Given the description of an element on the screen output the (x, y) to click on. 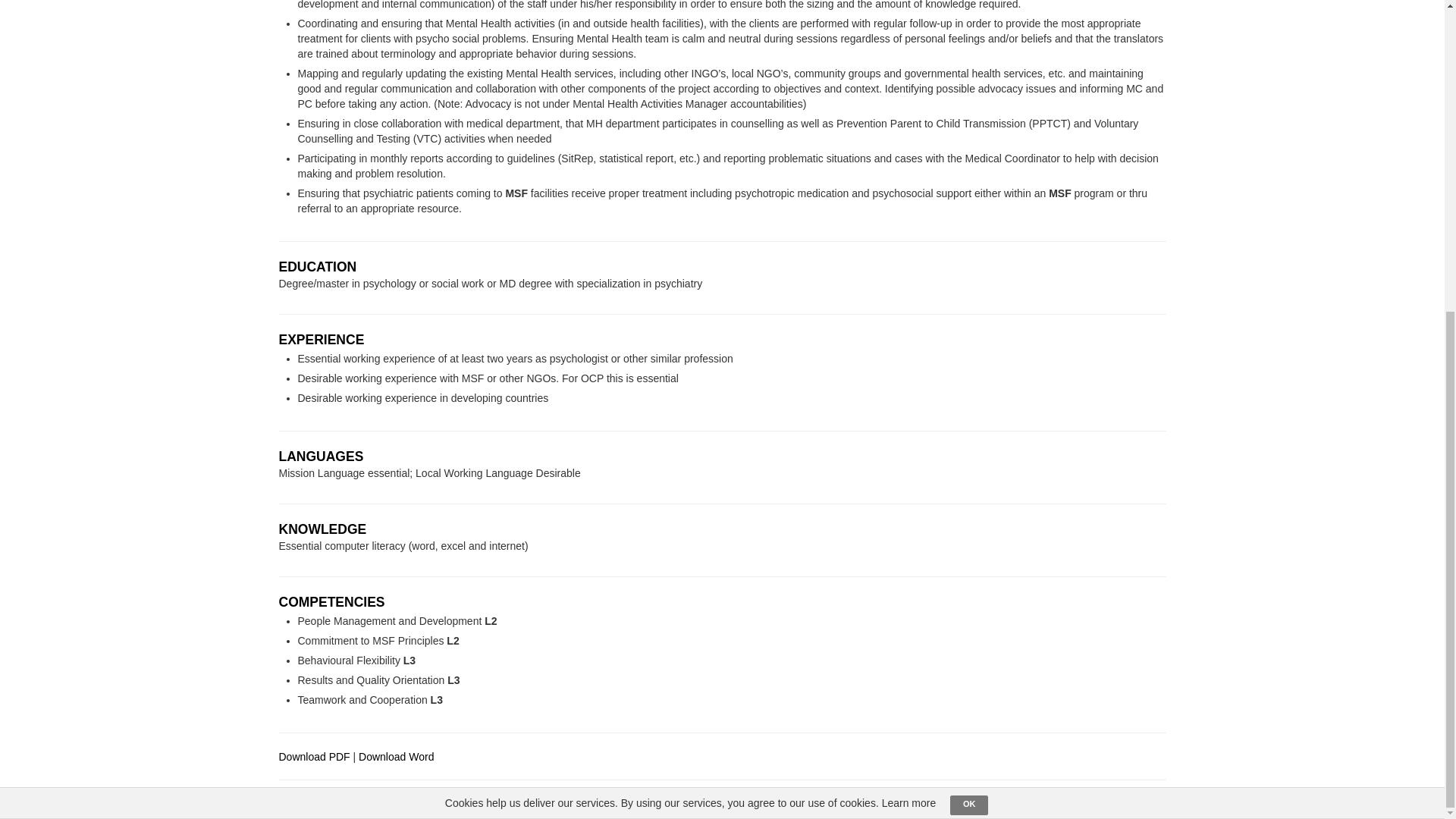
OK (969, 309)
Download Word (395, 756)
Learn more (909, 306)
Download PDF (314, 756)
